Given the description of an element on the screen output the (x, y) to click on. 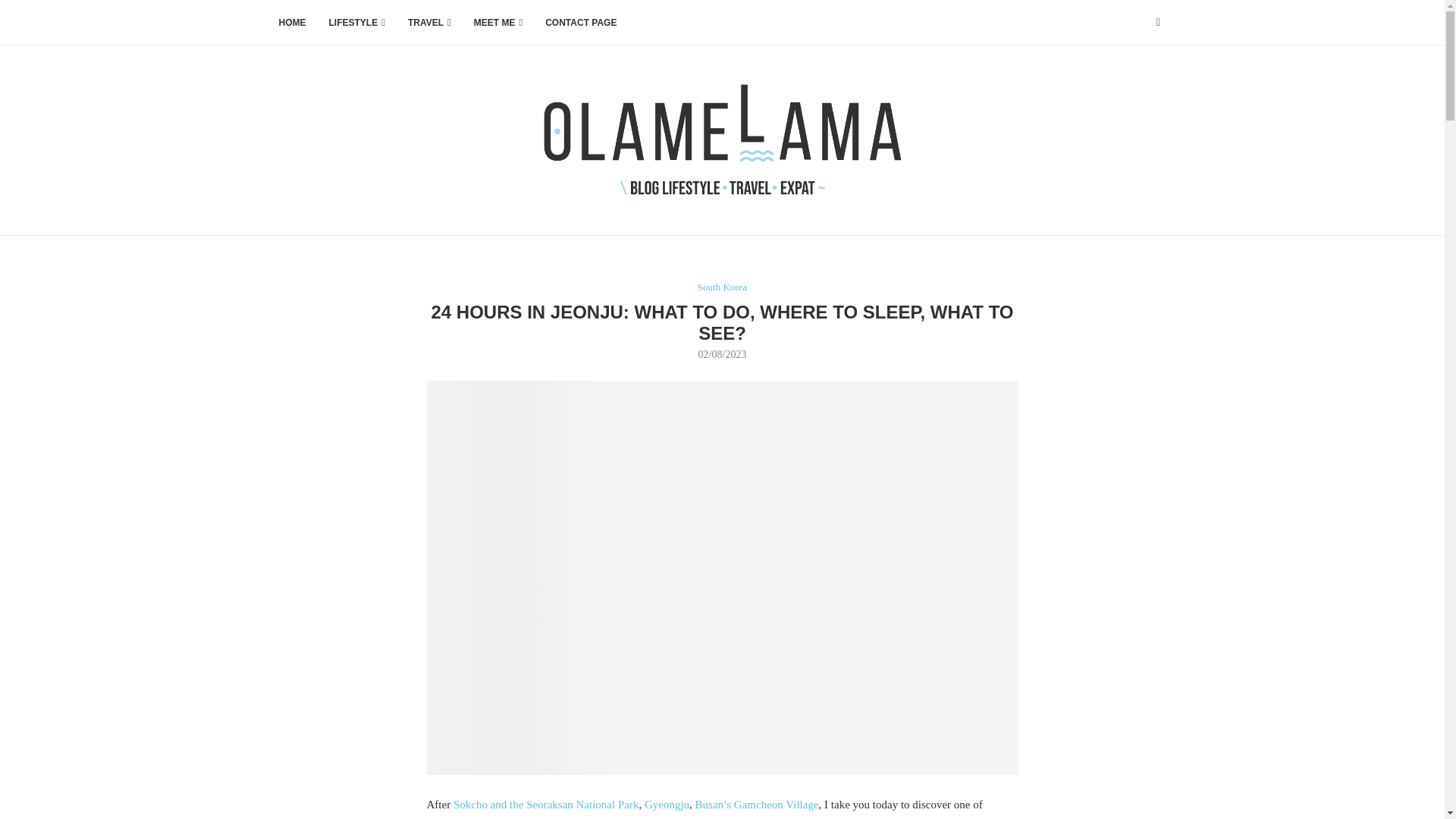
Sokcho and the Seoraksan National Park (545, 804)
South Korea (721, 287)
LIFESTYLE (357, 22)
CONTACT PAGE (579, 22)
Gyeongju (666, 804)
TRAVEL (429, 22)
MEET ME (498, 22)
